Given the description of an element on the screen output the (x, y) to click on. 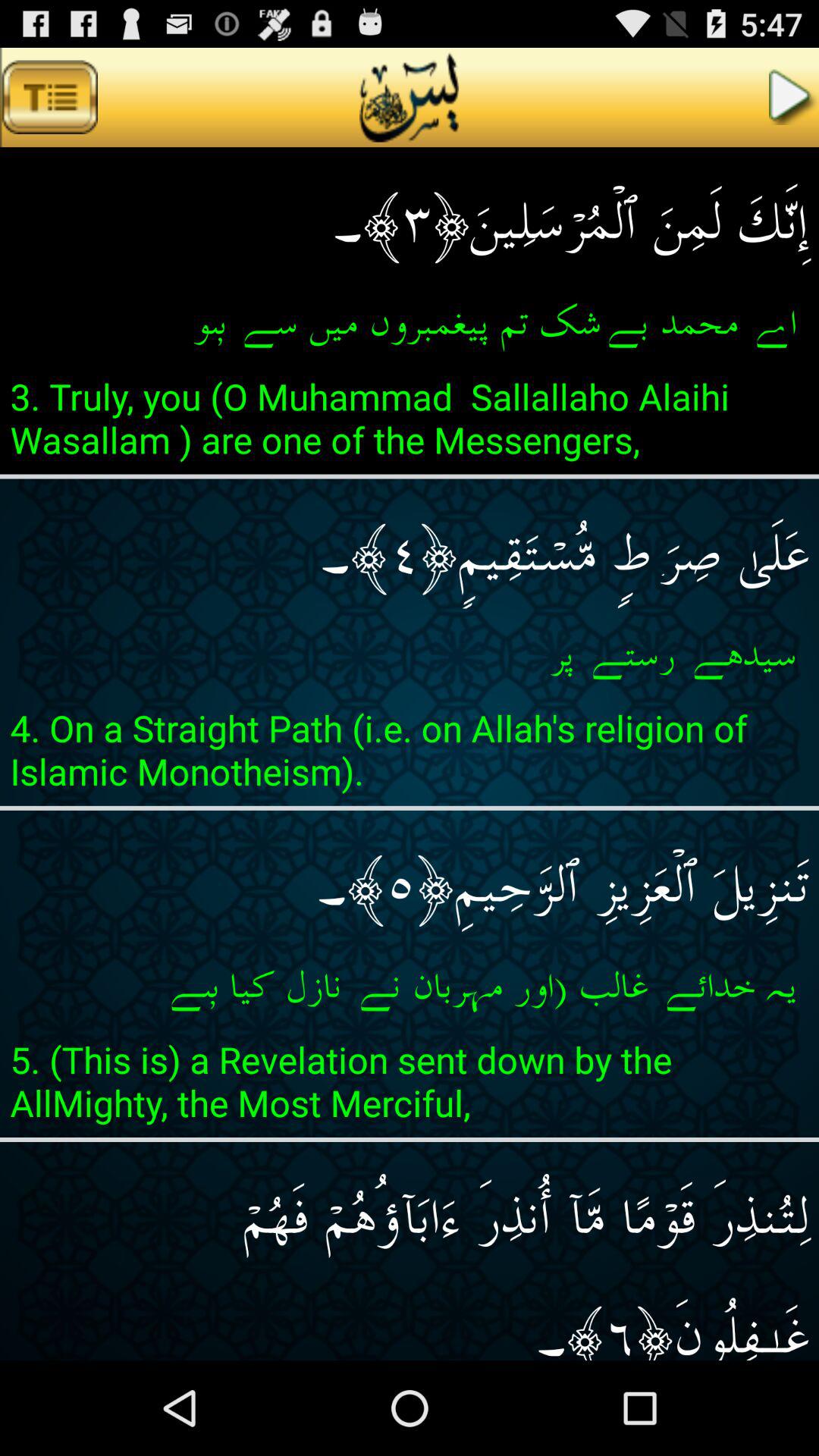
turn on the icon below 4 on a app (409, 875)
